Given the description of an element on the screen output the (x, y) to click on. 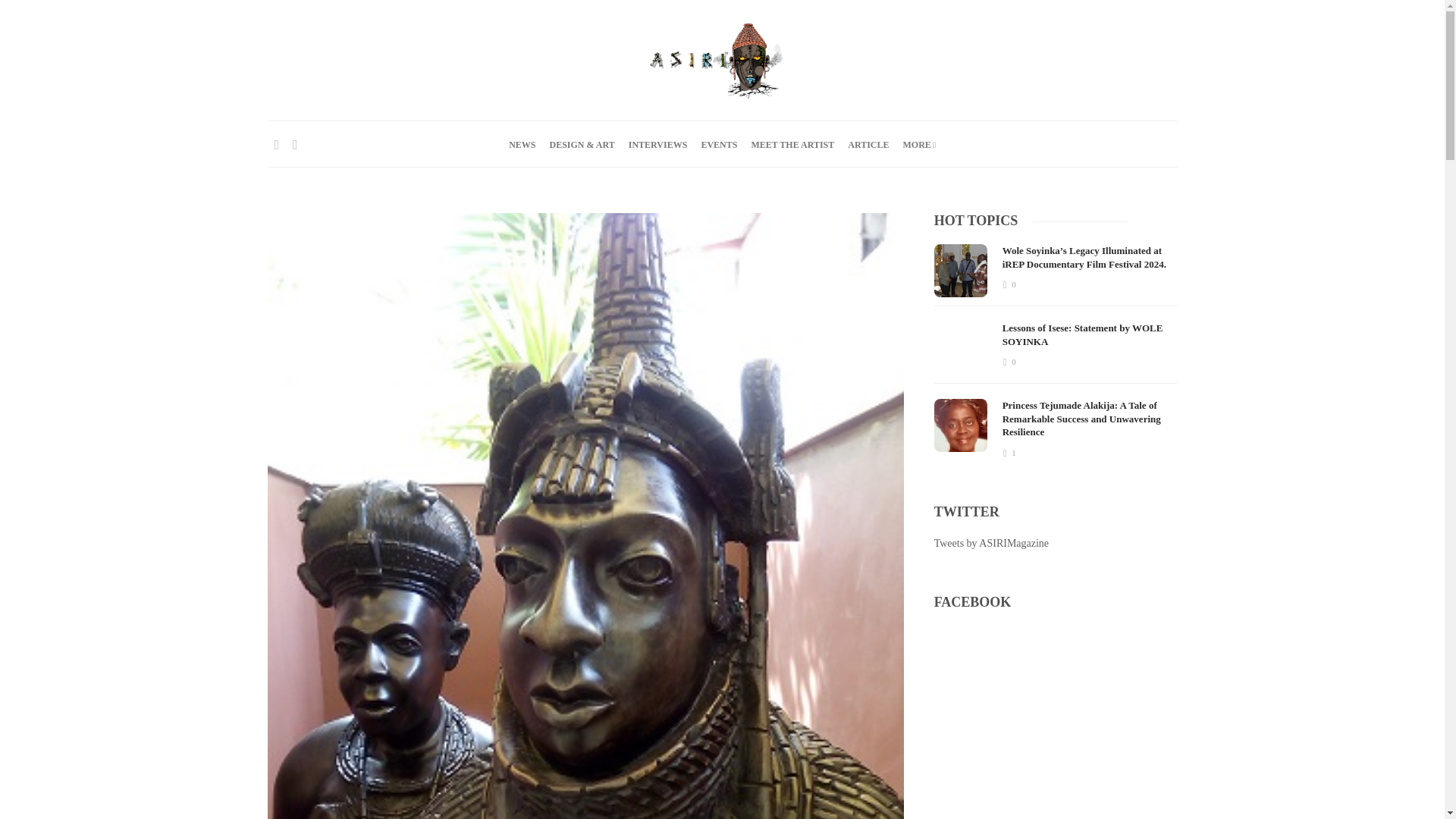
MEET THE ARTIST (792, 144)
ARTICLE (867, 144)
INTERVIEWS (657, 144)
